Given the description of an element on the screen output the (x, y) to click on. 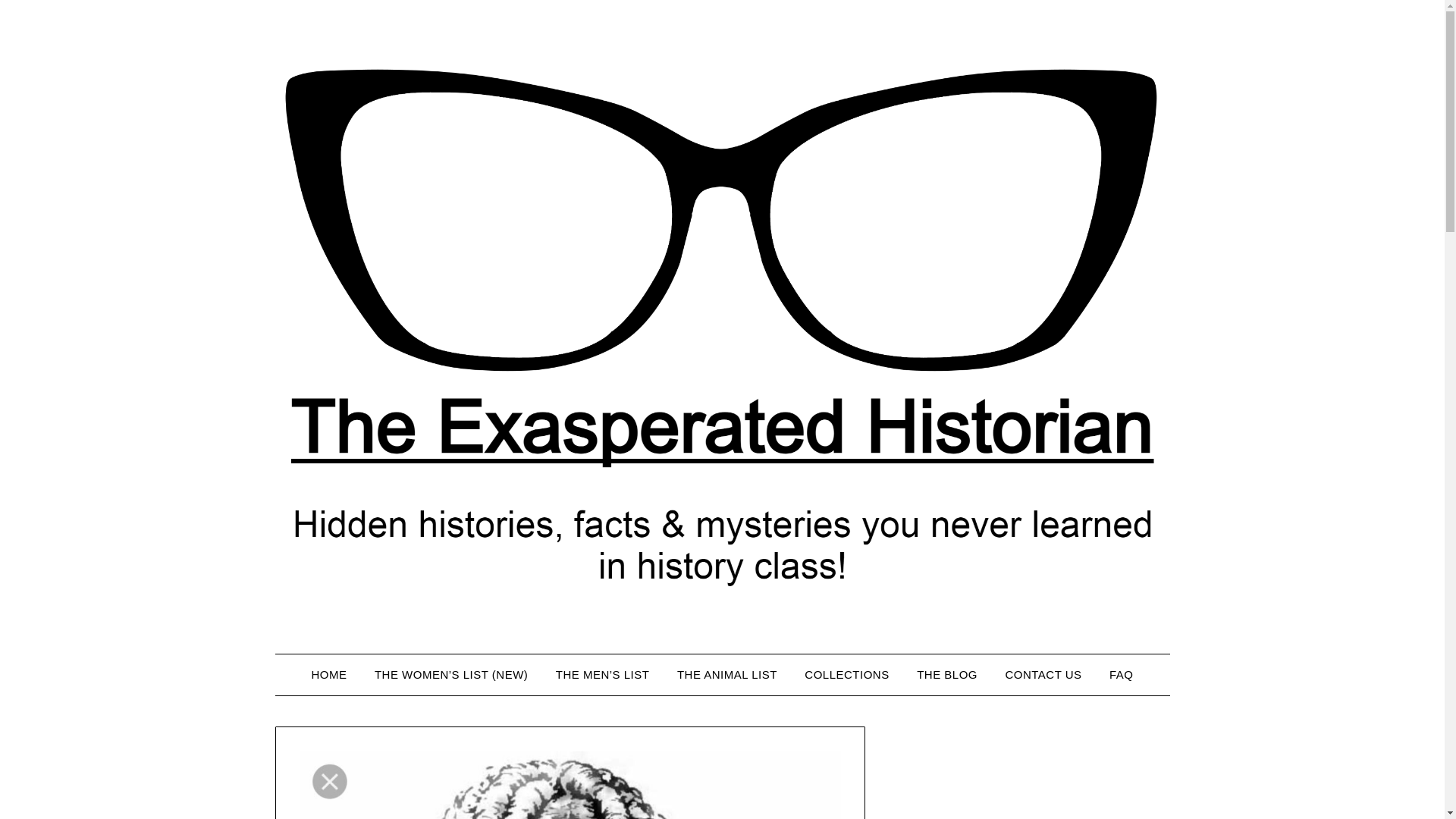
FAQ (1121, 674)
CONTACT US (1042, 674)
THE ANIMAL LIST (727, 674)
THE BLOG (947, 674)
COLLECTIONS (846, 674)
HOME (328, 674)
